Given the description of an element on the screen output the (x, y) to click on. 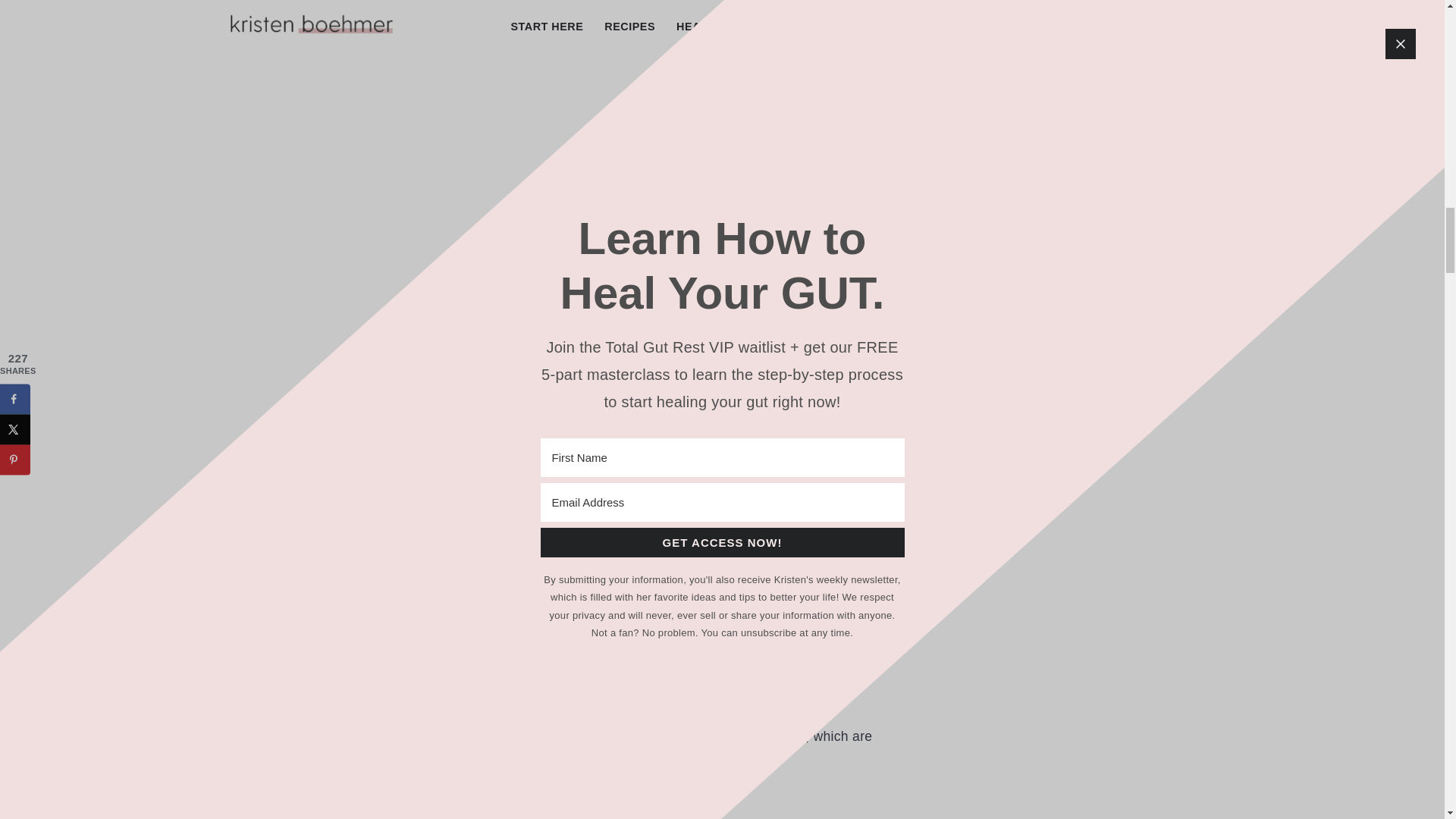
raw cashew butter (355, 522)
Double Chocolate Power Cookies (701, 735)
Thrive Market (513, 546)
